Given the description of an element on the screen output the (x, y) to click on. 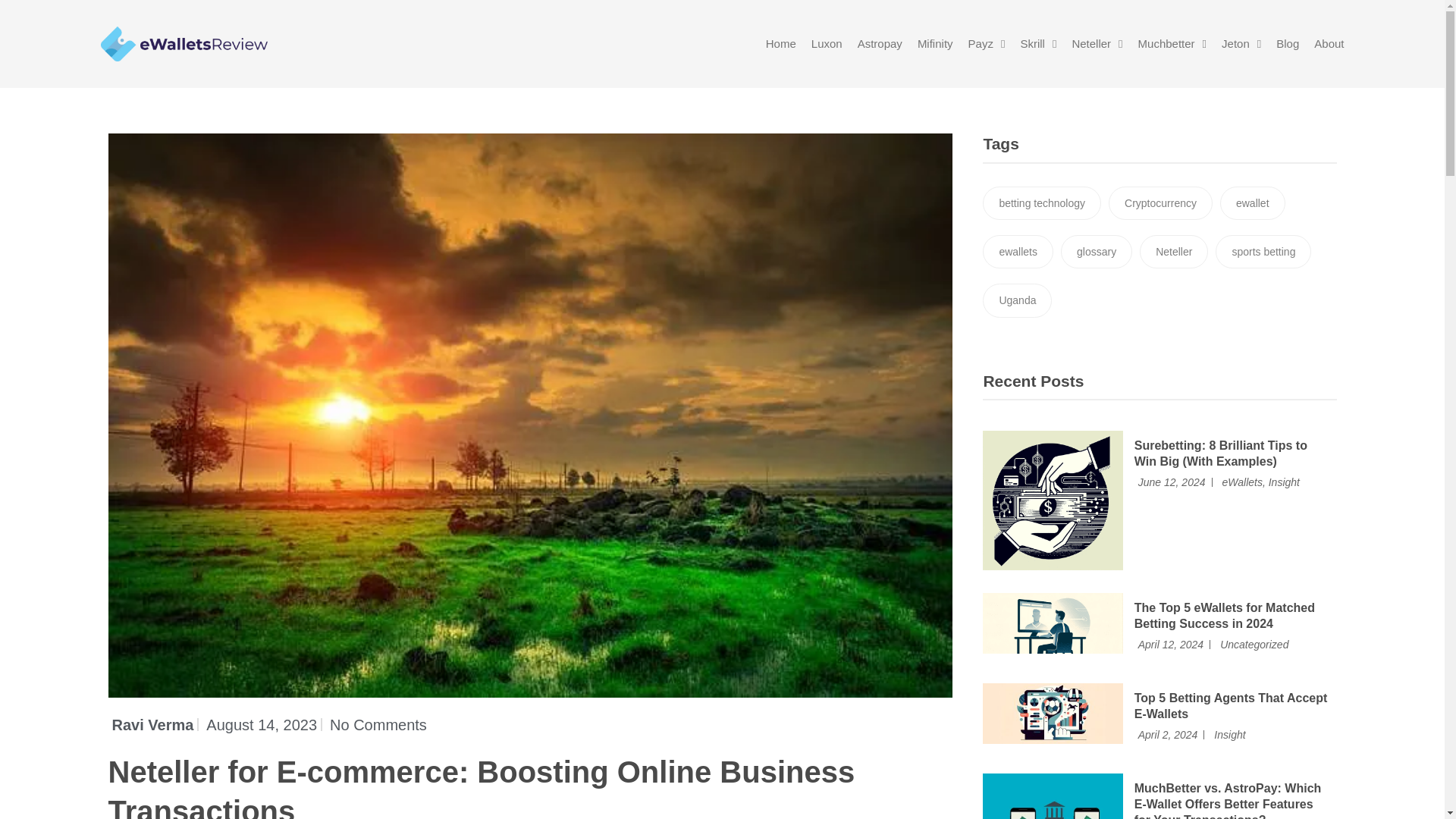
Luxon (826, 43)
Skrill (1038, 43)
Muchbetter (1172, 43)
Payz (987, 43)
Mifinity (935, 43)
Home (780, 43)
Neteller (1096, 43)
Astropay (879, 43)
